Given the description of an element on the screen output the (x, y) to click on. 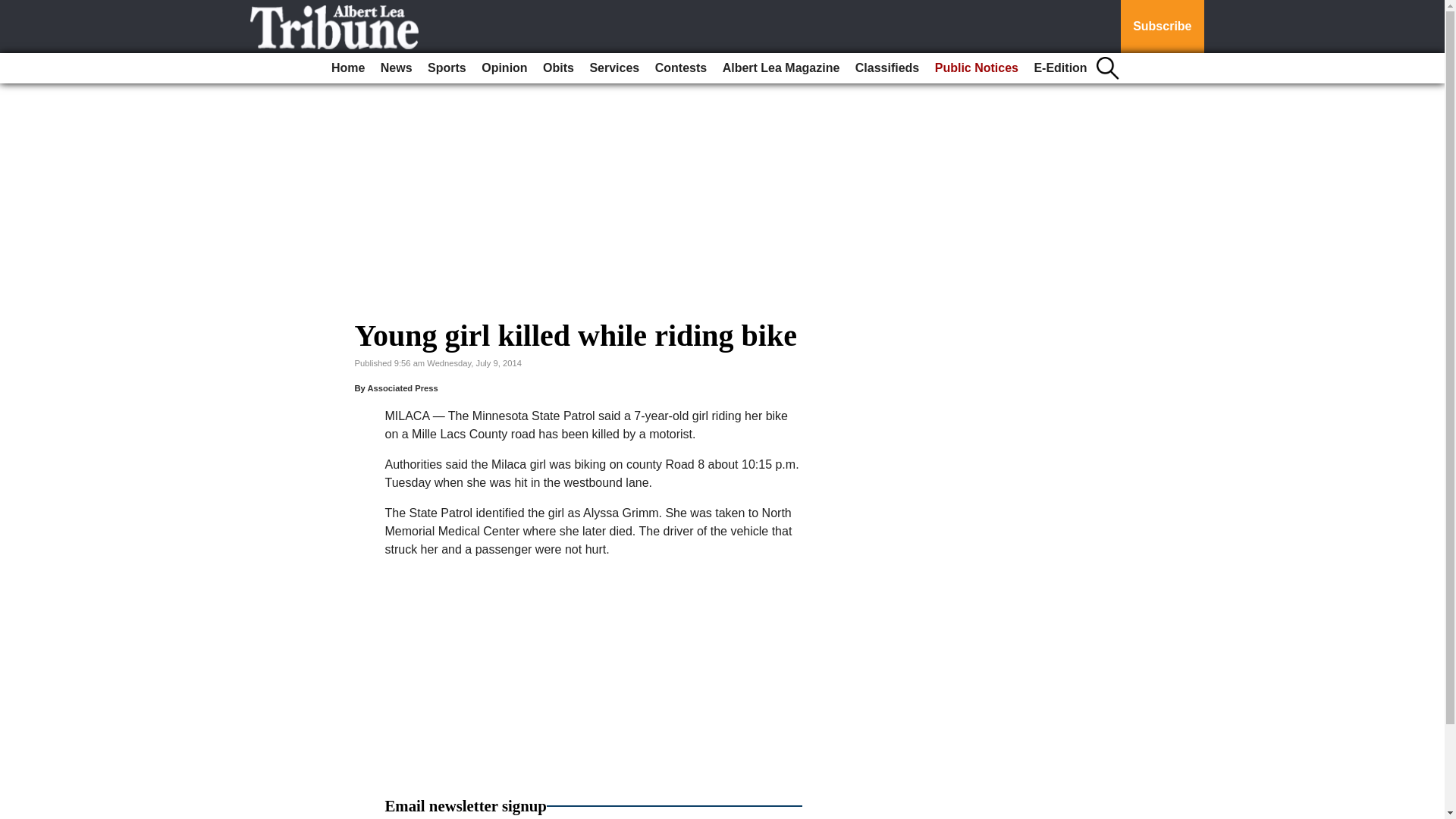
Opinion (504, 68)
News (396, 68)
Obits (558, 68)
Subscribe (1162, 26)
Sports (446, 68)
Home (347, 68)
Services (614, 68)
